Given the description of an element on the screen output the (x, y) to click on. 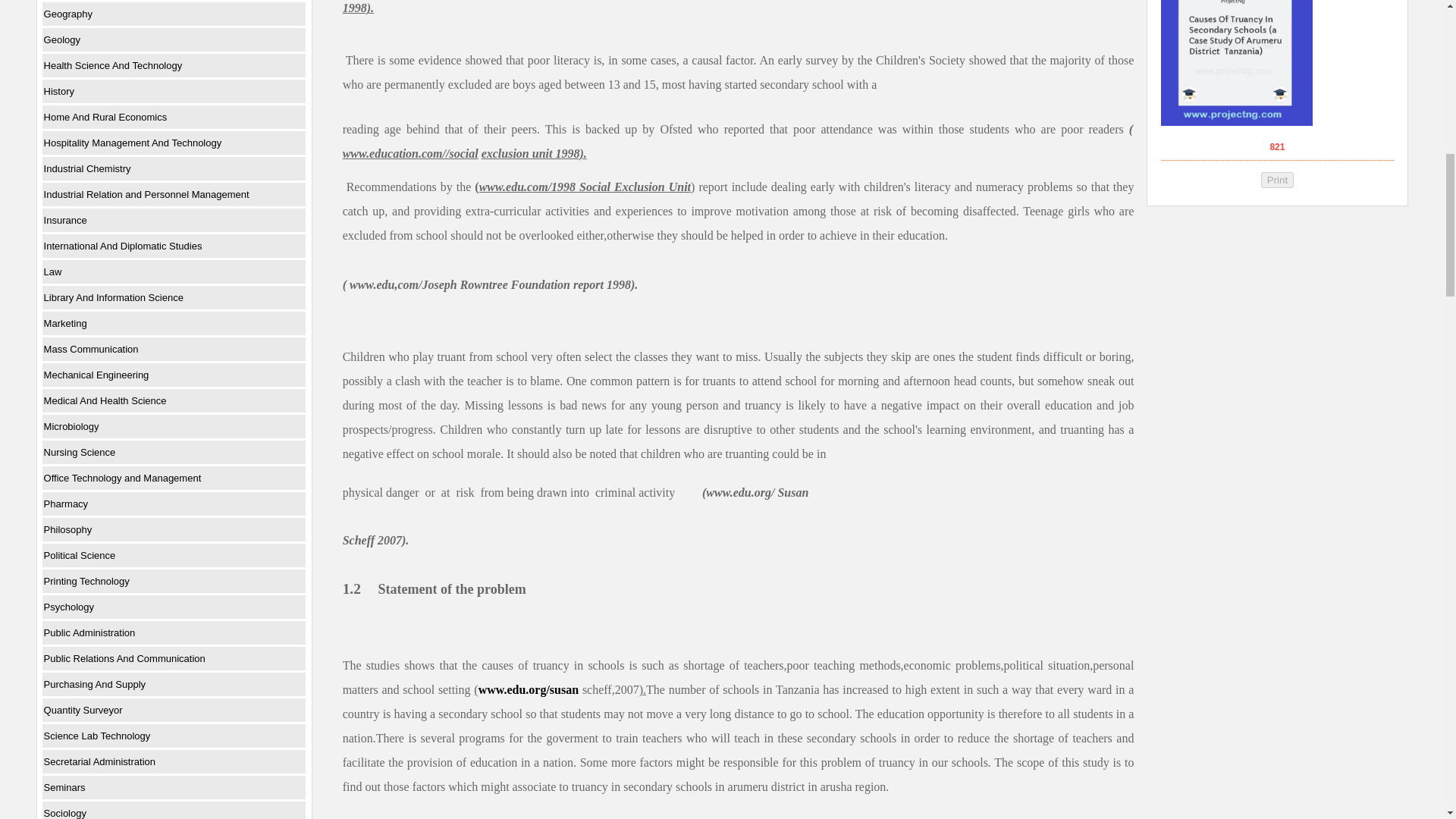
Print (1277, 179)
